Given the description of an element on the screen output the (x, y) to click on. 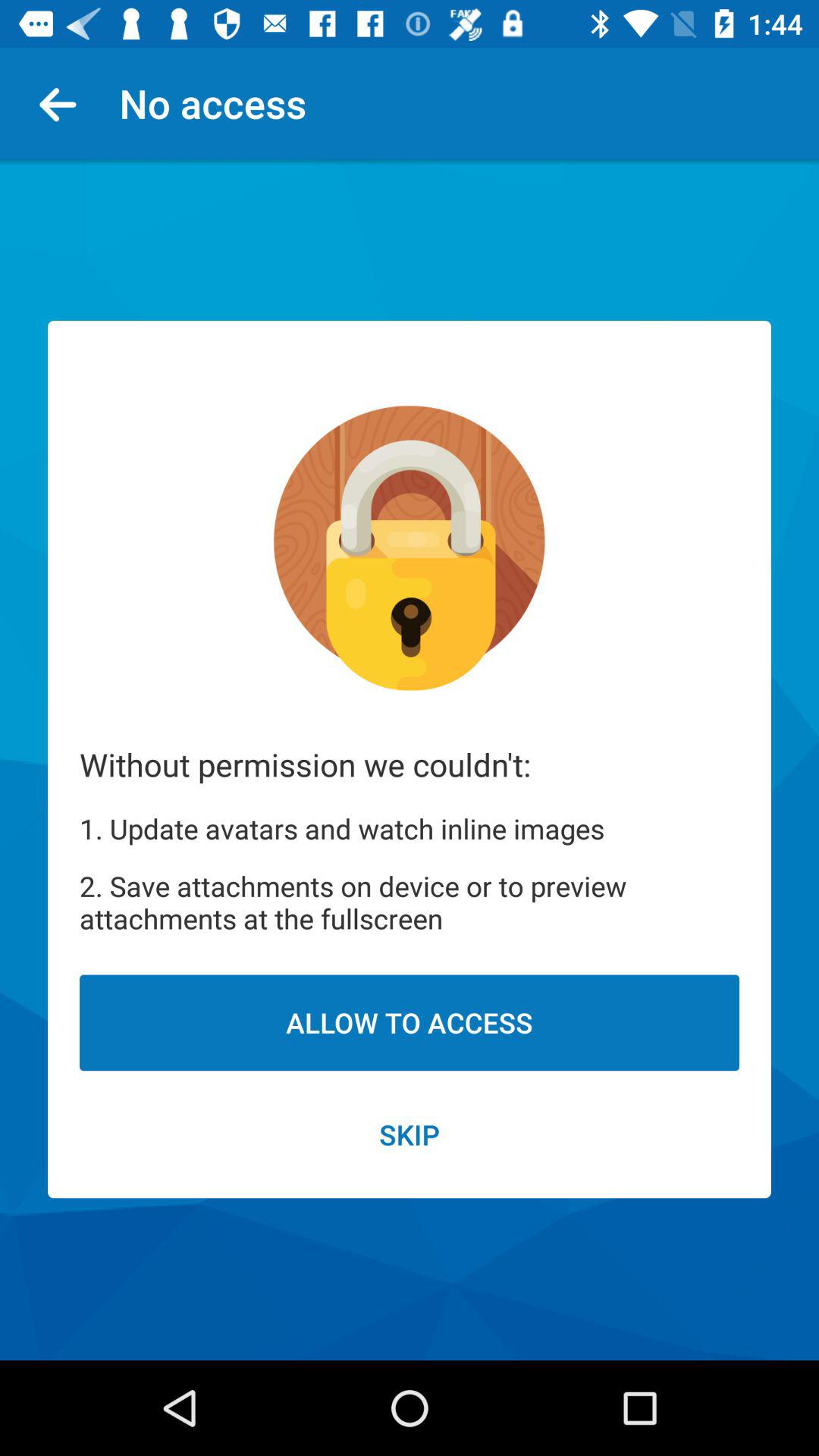
click skip item (409, 1134)
